Given the description of an element on the screen output the (x, y) to click on. 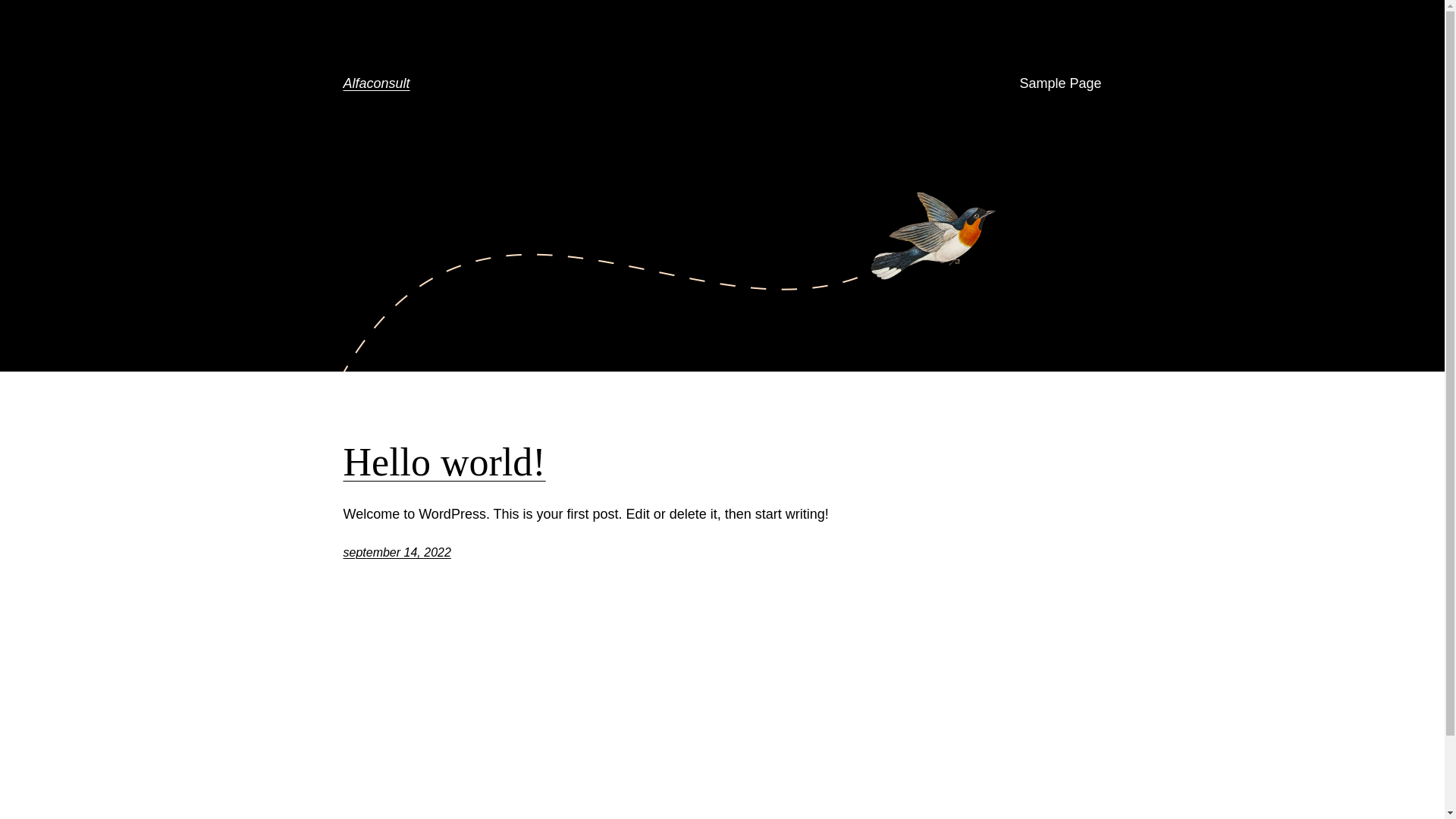
Sample Page Element type: text (1060, 83)
Alfaconsult Element type: text (375, 83)
Hello world! Element type: text (443, 462)
september 14, 2022 Element type: text (396, 552)
